Given the description of an element on the screen output the (x, y) to click on. 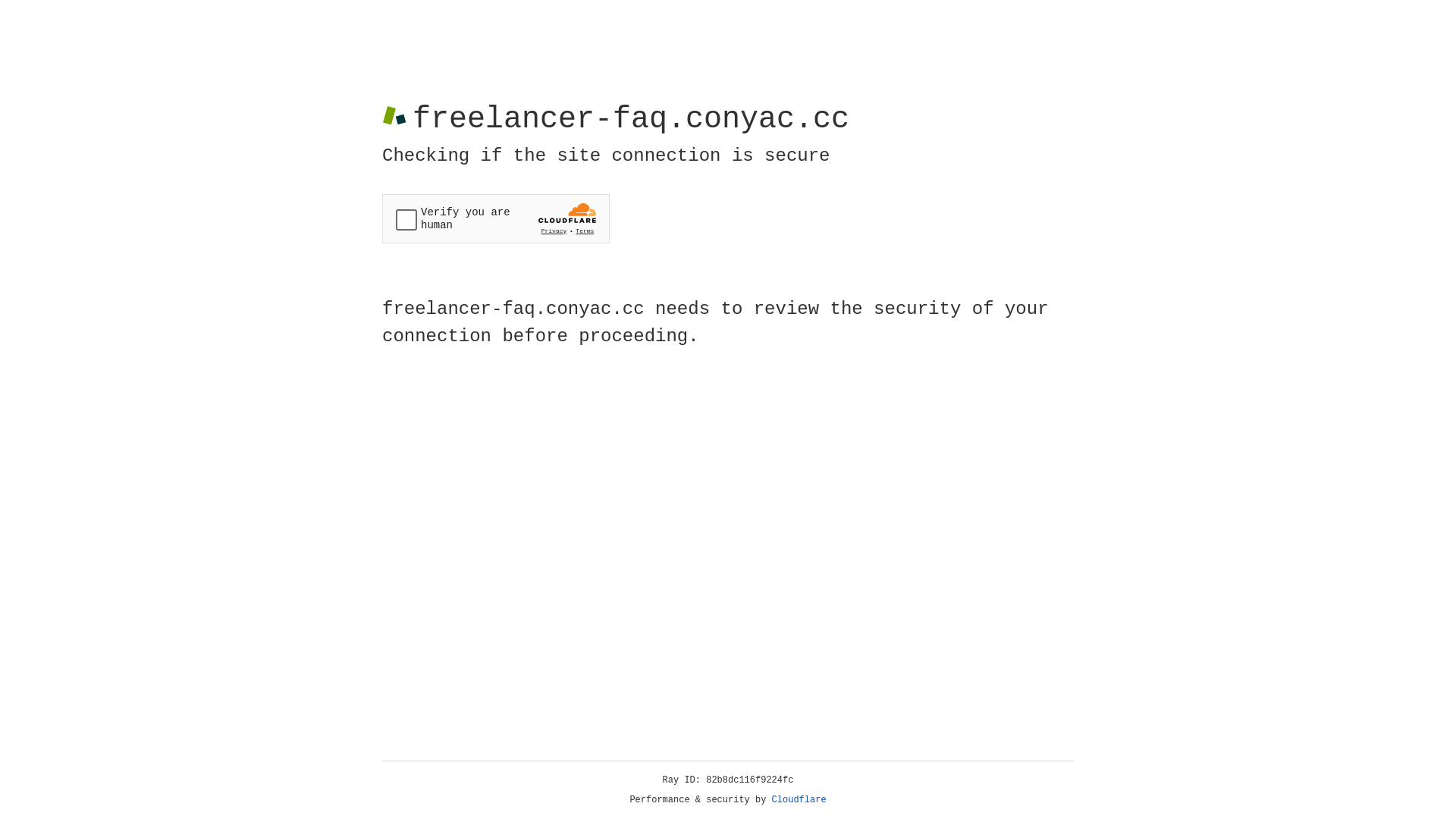
Cloudflare Element type: text (798, 799)
Widget containing a Cloudflare security challenge Element type: hover (495, 218)
